Given the description of an element on the screen output the (x, y) to click on. 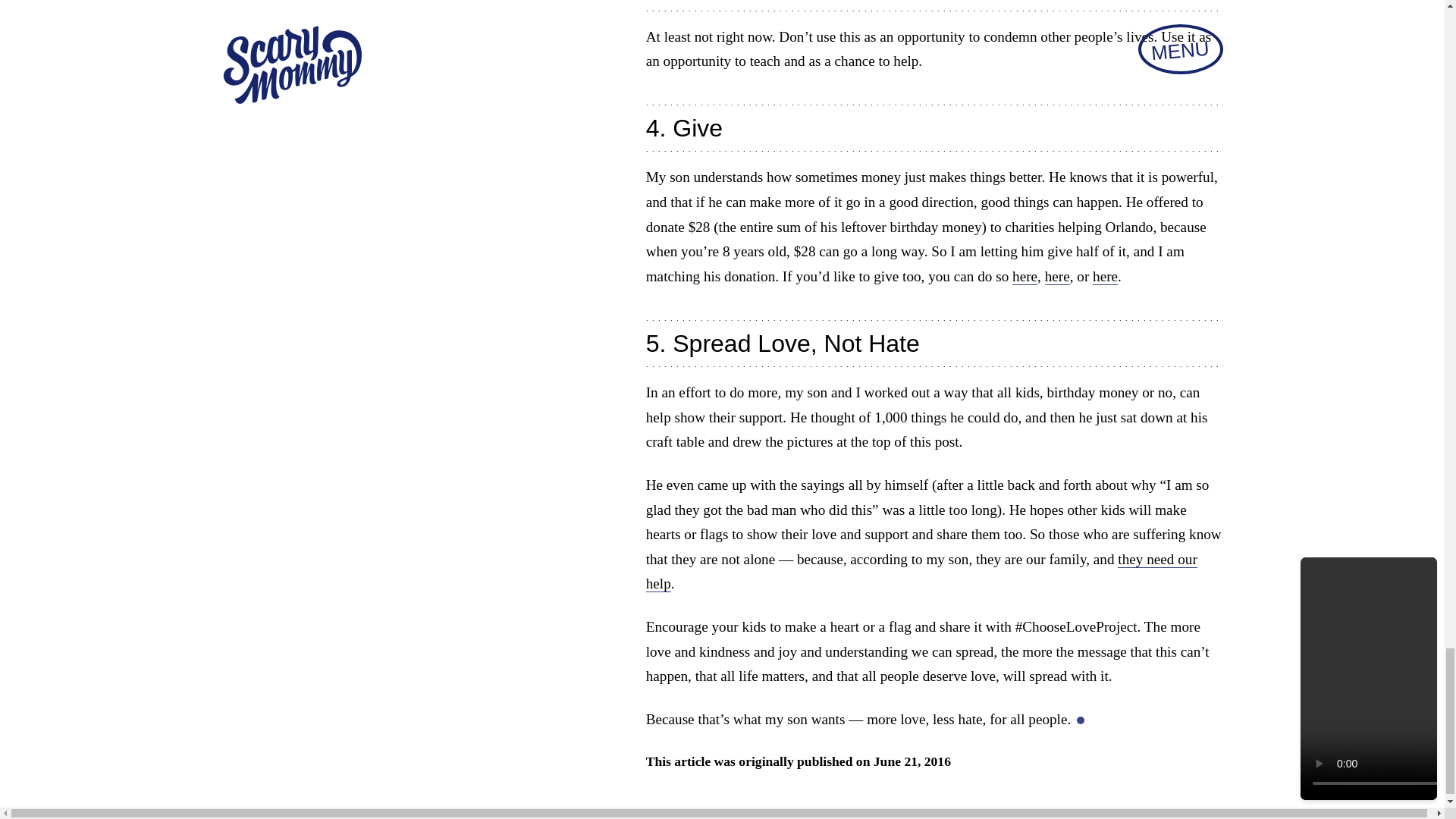
they need our help (921, 571)
here (1023, 276)
here (1057, 276)
here (1105, 276)
